Given the description of an element on the screen output the (x, y) to click on. 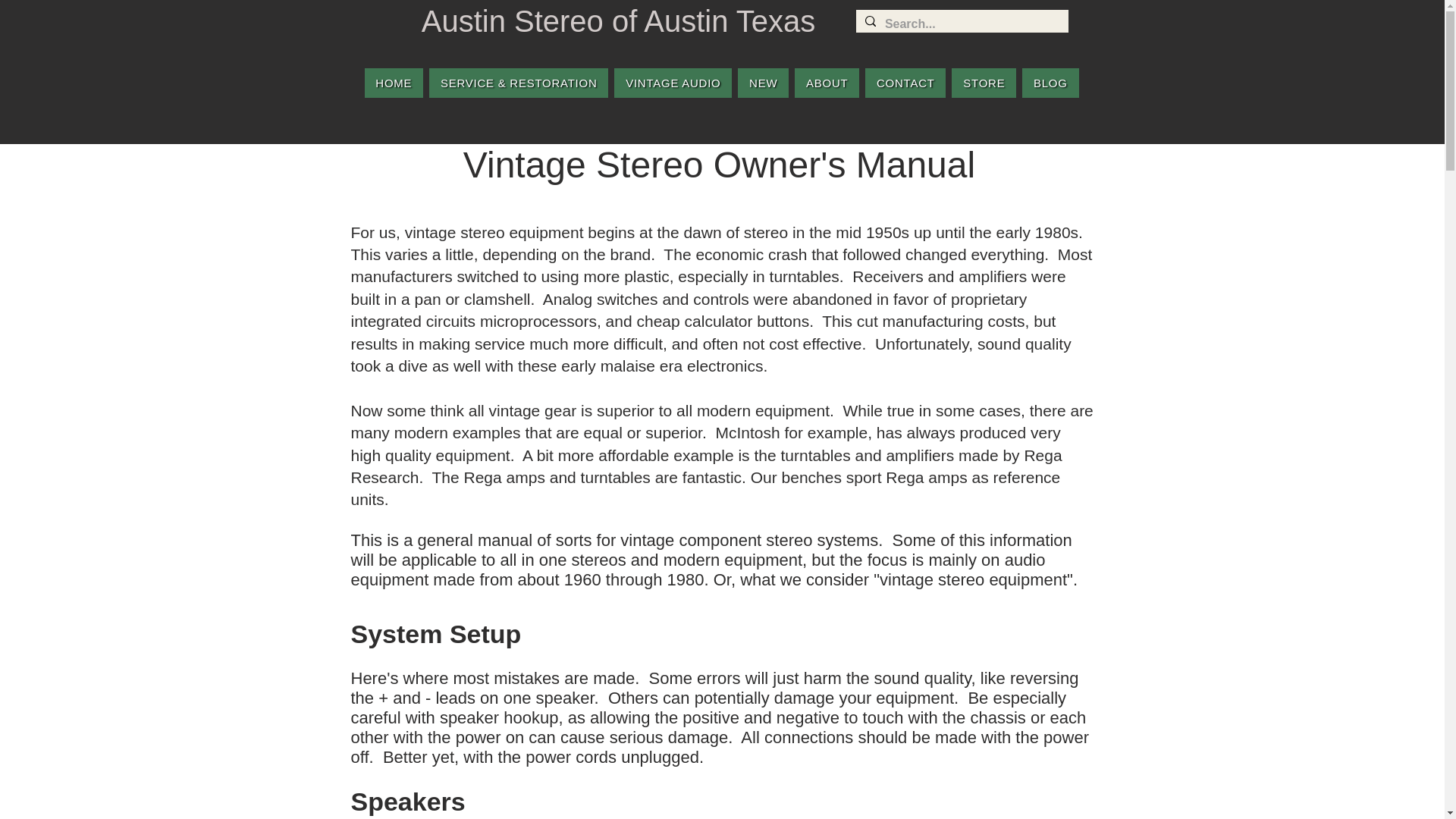
CONTACT (904, 82)
BLOG (1050, 82)
VINTAGE AUDIO (673, 82)
ABOUT (826, 82)
HOME (393, 82)
STORE (984, 82)
